Given the description of an element on the screen output the (x, y) to click on. 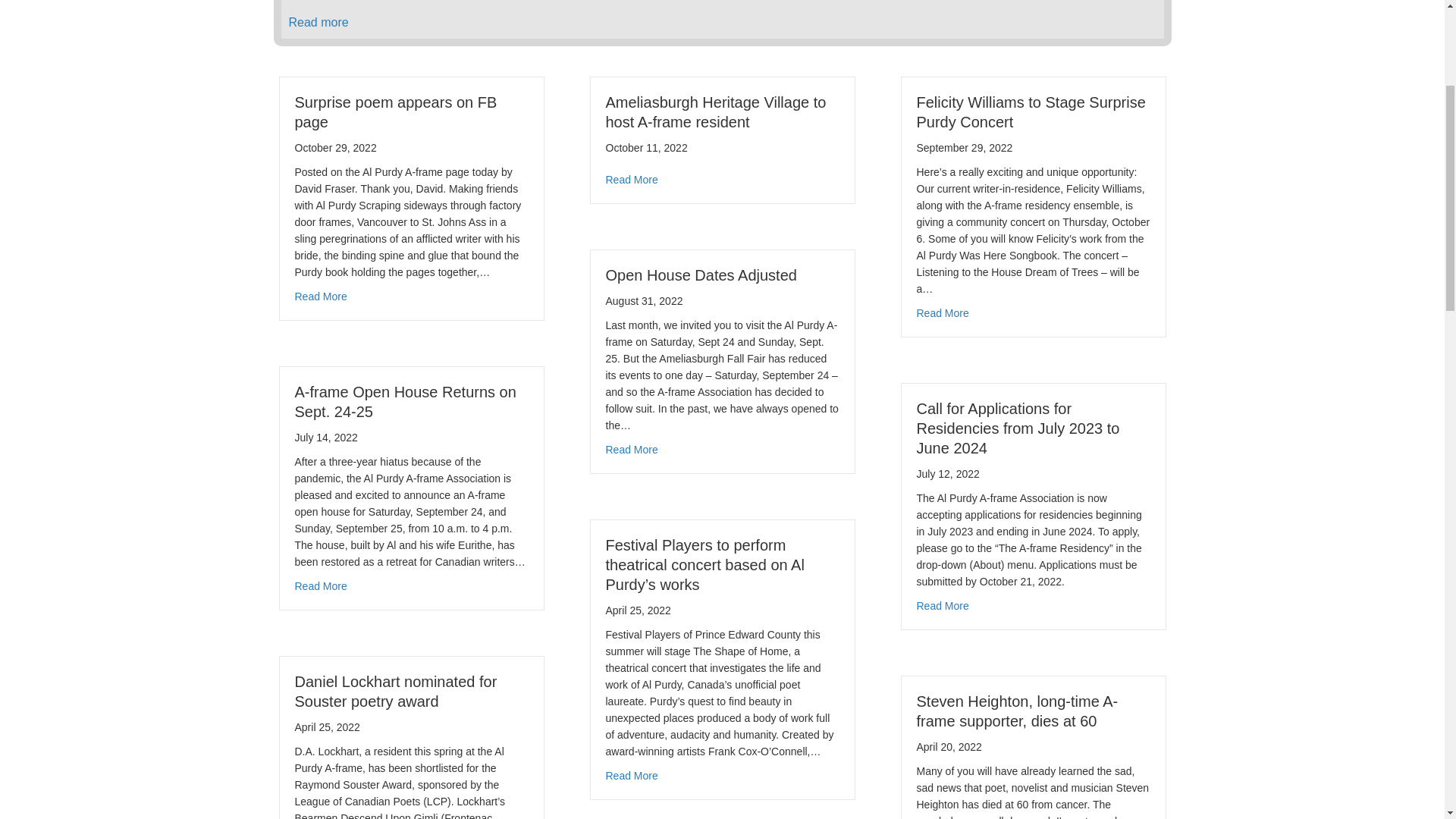
Read More Element type: text (942, 585)
The Al Purdy A-frame Residency Element type: text (414, 28)
Read More Element type: text (631, 722)
Surprise poem appears on FB page Element type: text (395, 385)
Felicity Williams to Stage Surprise Purdy Concert Element type: text (1030, 385)
Ameliasburgh Heritage Village to host A-frame resident Element type: text (715, 385)
Anna Swanson on Longlist for 2023 CBC Poetry Prize Element type: text (559, 167)
Contact Element type: text (1163, 34)
Open House Dates Adjusted Element type: text (700, 547)
Read More Element type: text (320, 569)
Support Element type: text (1098, 34)
About Element type: text (852, 34)
Read more Element type: text (318, 295)
News Element type: text (1040, 34)
Read More Element type: text (631, 452)
A-frame Open House Returns on Sept. 24-25 Element type: text (404, 674)
Writers-in-Residence Element type: text (946, 34)
